Given the description of an element on the screen output the (x, y) to click on. 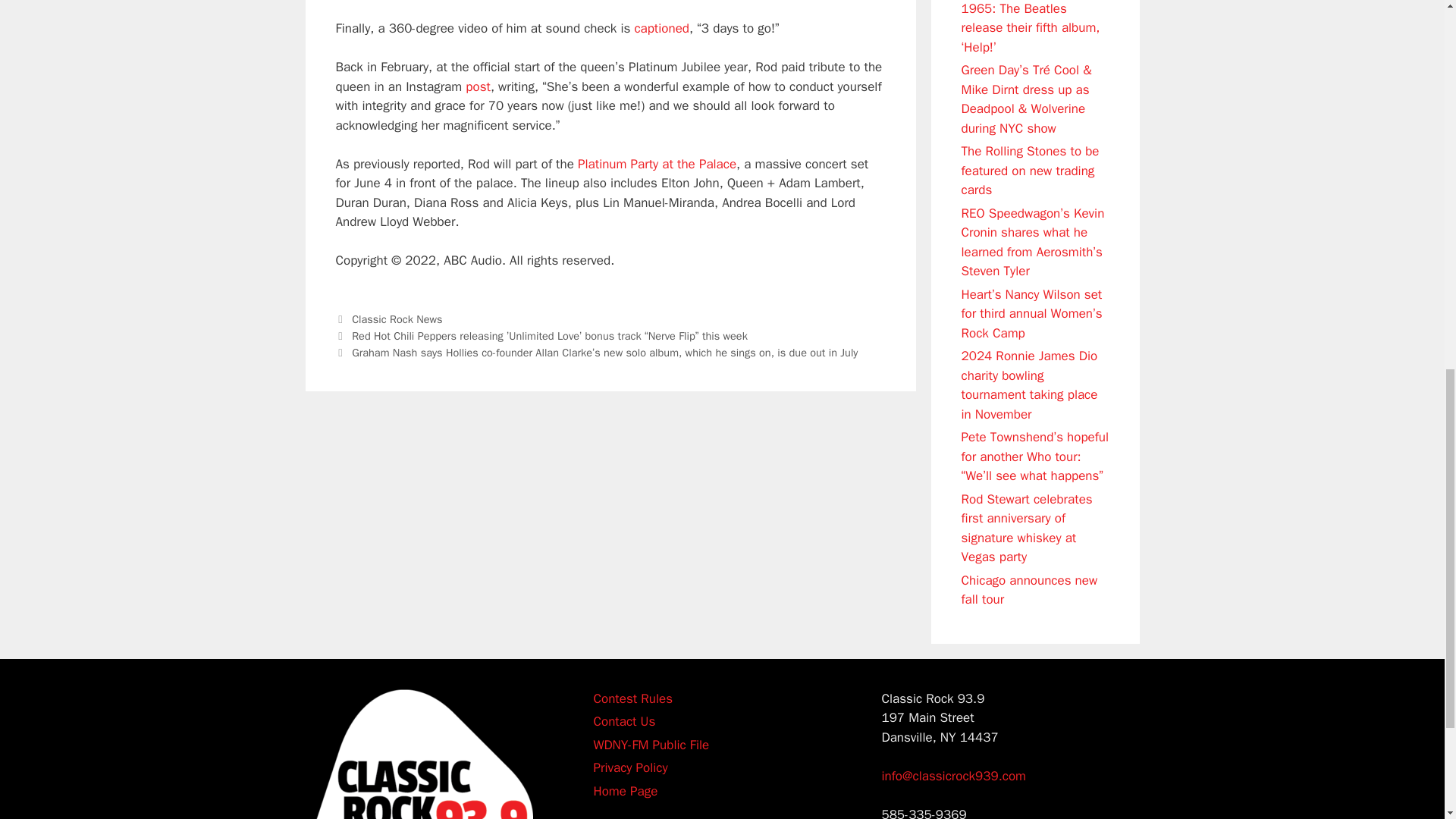
Classic Rock News (397, 318)
Platinum Party at the Palace (657, 163)
Chicago announces new fall tour (1028, 589)
post (477, 86)
The Rolling Stones to be featured on new trading cards (1029, 170)
captioned (660, 28)
Contest Rules (632, 697)
